Given the description of an element on the screen output the (x, y) to click on. 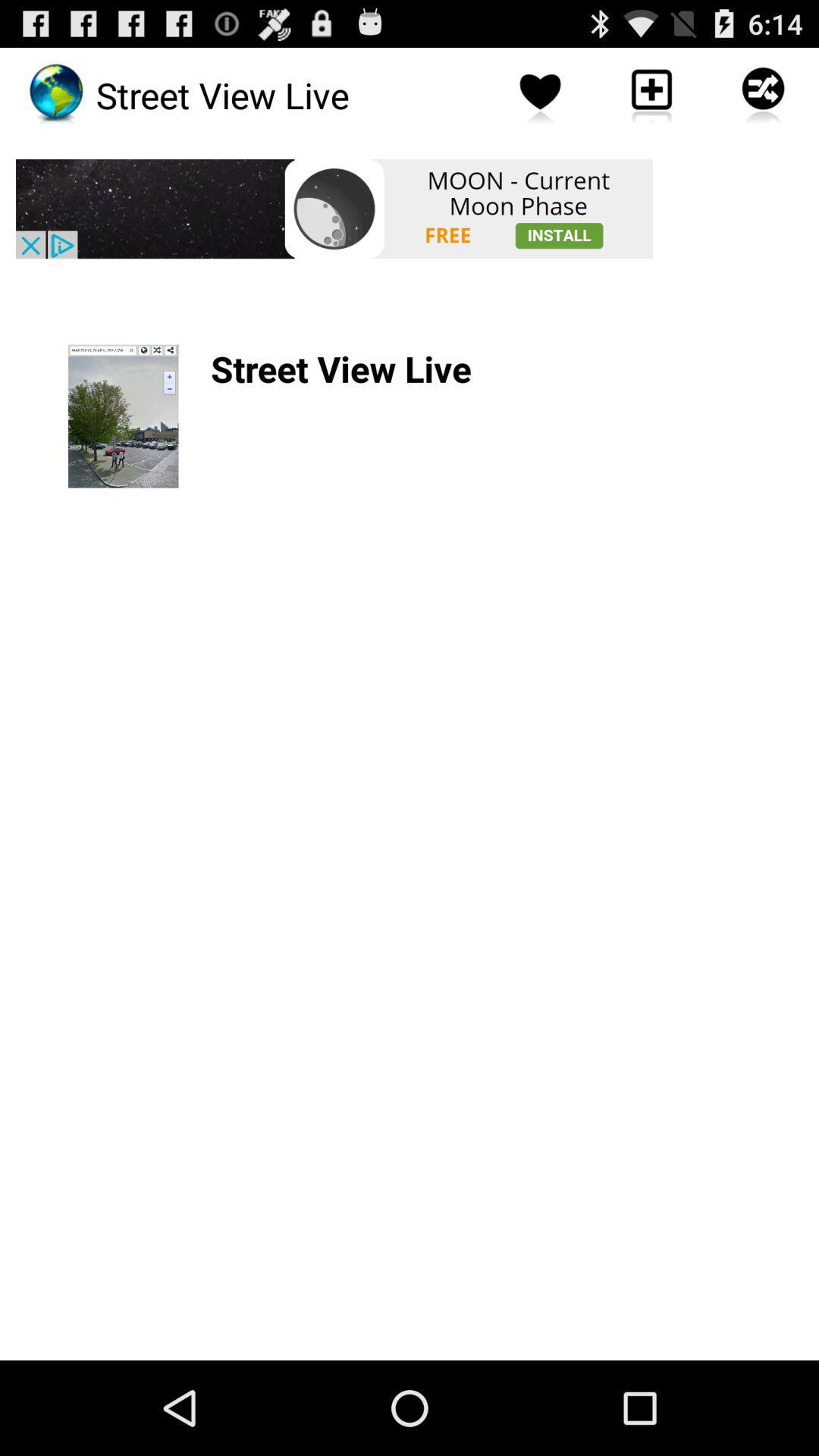
select advertisement (333, 208)
